Given the description of an element on the screen output the (x, y) to click on. 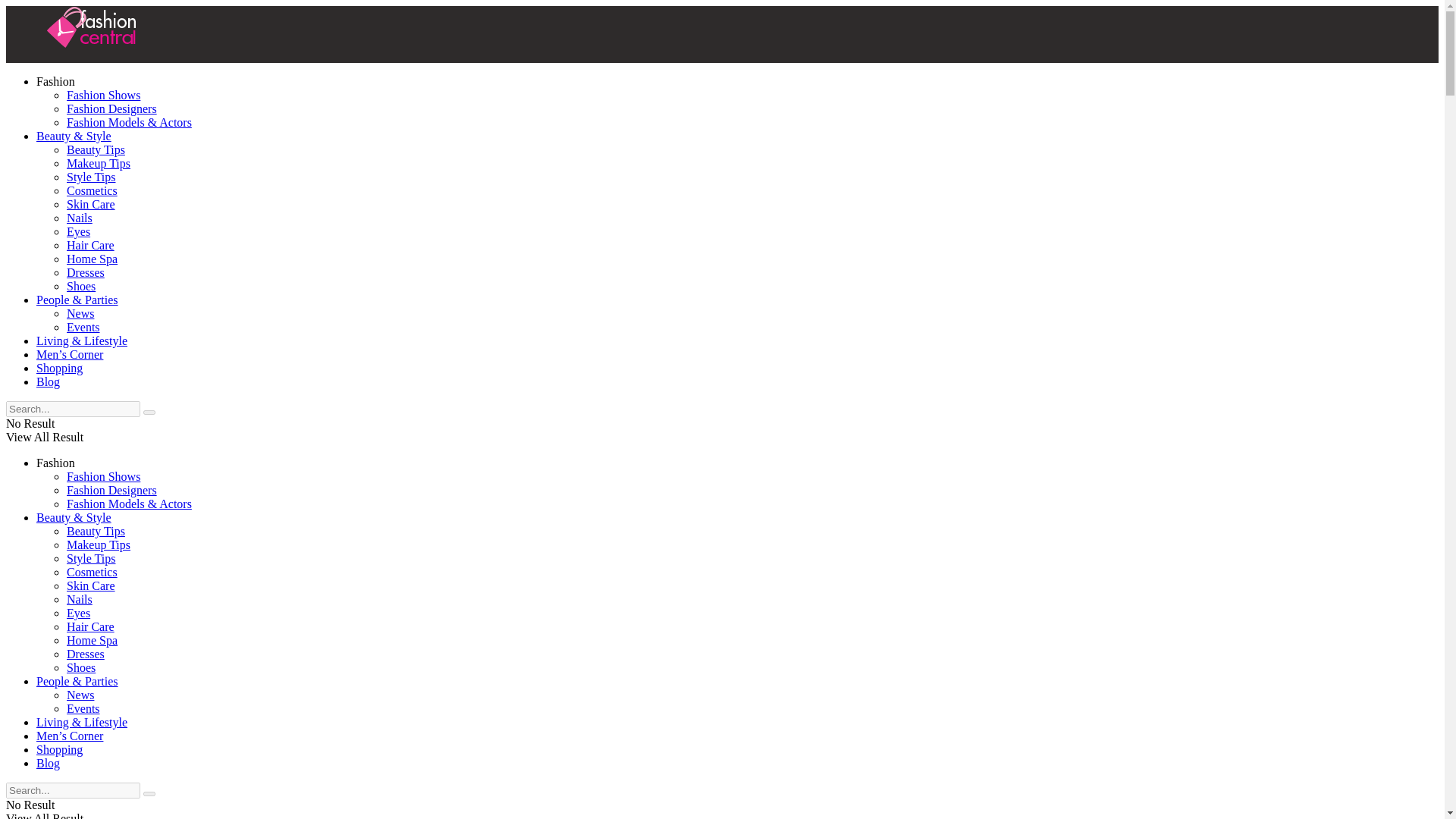
News (80, 313)
Cosmetics (91, 190)
Blog (47, 381)
Nails (79, 217)
Style Tips (90, 176)
Shoes (81, 286)
Style Tips (90, 558)
Makeup Tips (98, 544)
Events (83, 327)
Skin Care (90, 585)
Dresses (85, 272)
Home Spa (91, 258)
Makeup Tips (98, 163)
Shopping (59, 367)
Fashion (55, 81)
